Given the description of an element on the screen output the (x, y) to click on. 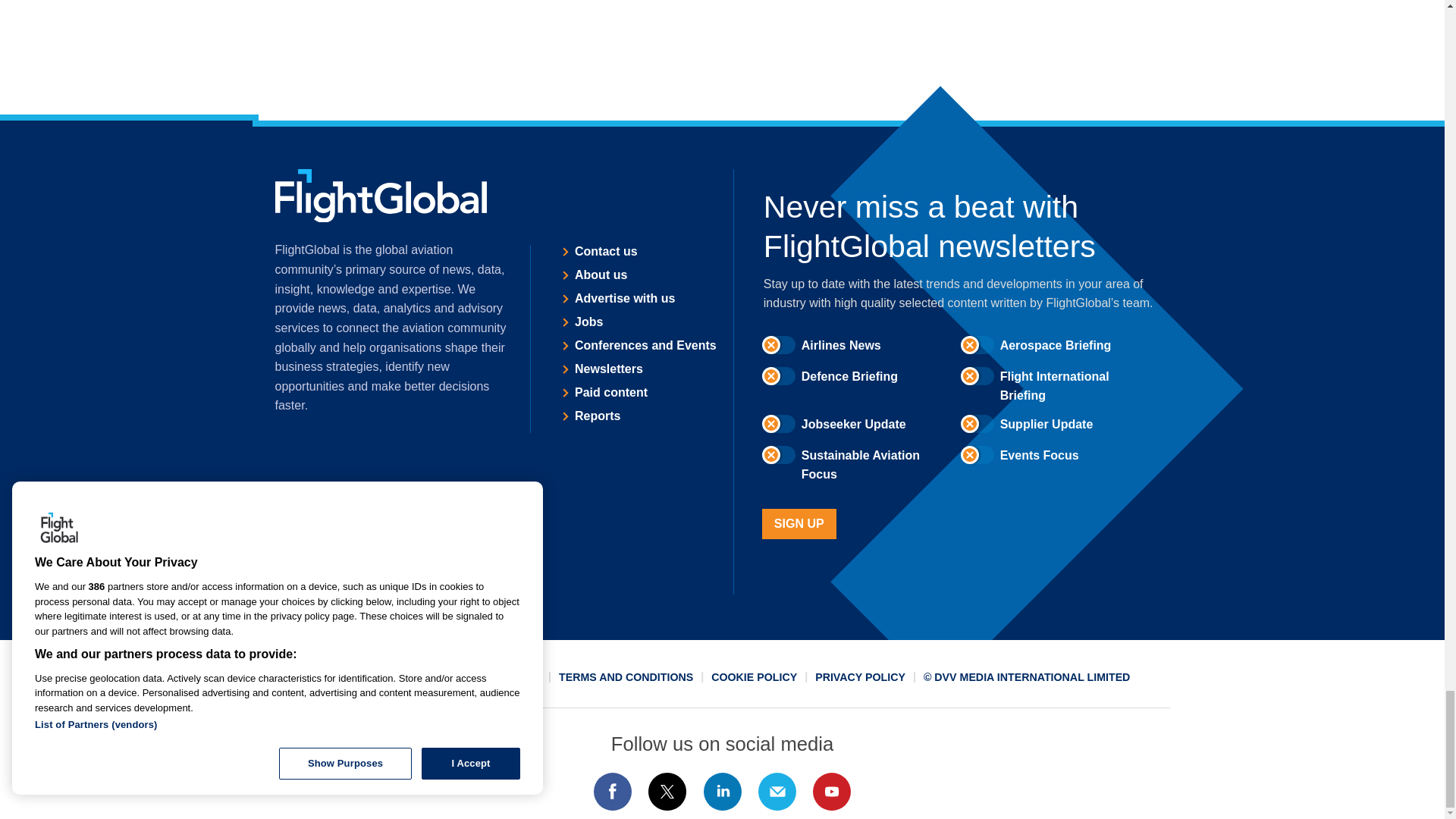
Email us (776, 791)
Connect with us on Twitter (667, 791)
Connect with us on Linked In (721, 791)
Connect with us on Youtube (831, 791)
Connect with us on Facebook (611, 791)
